Given the description of an element on the screen output the (x, y) to click on. 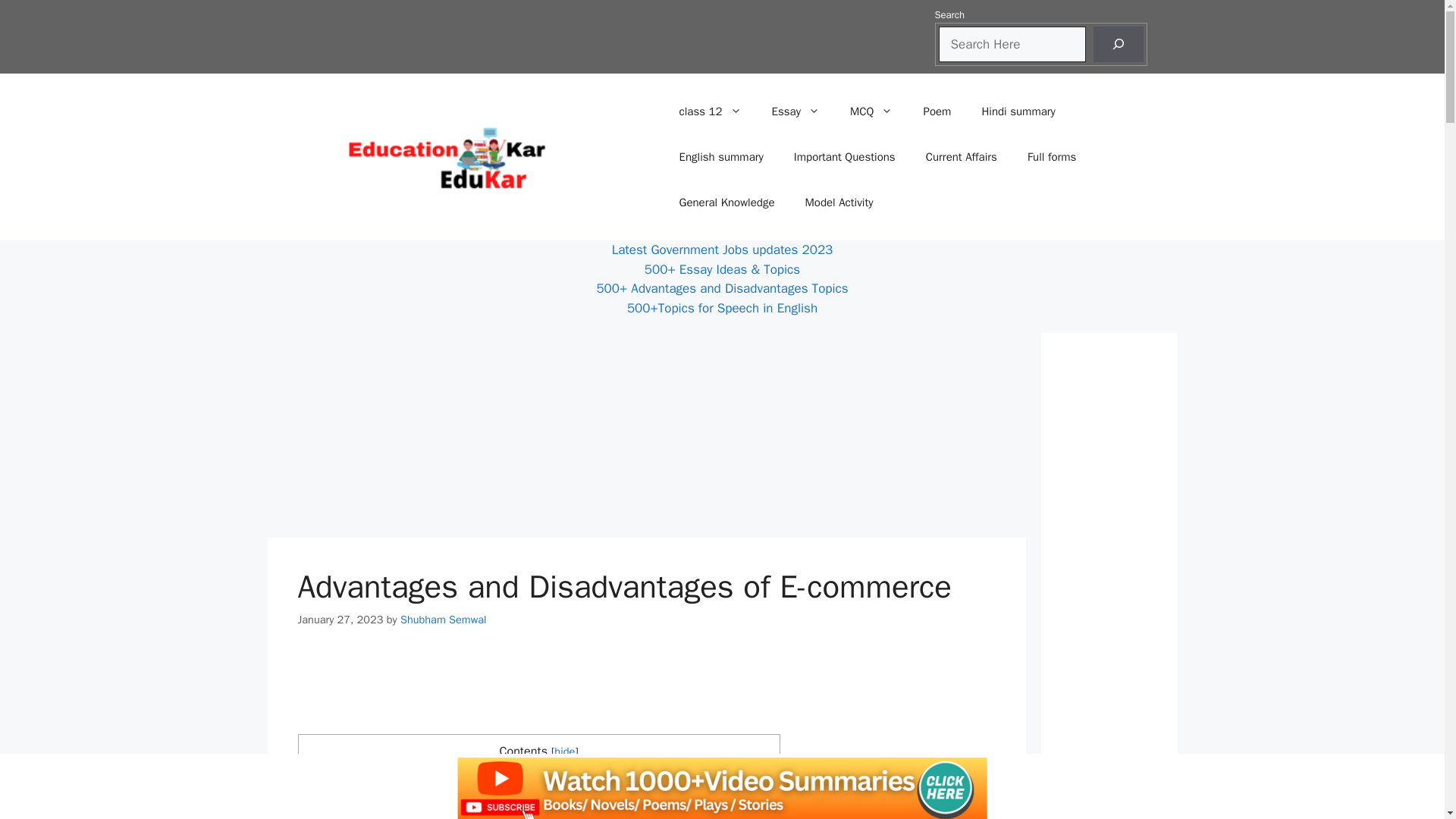
View all posts by Shubham Semwal (443, 619)
Full forms (1051, 156)
MCQ (871, 111)
Model Activity (839, 202)
class 12 (710, 111)
General Knowledge (726, 202)
Poem (936, 111)
Current Affairs (961, 156)
Essay (795, 111)
Important Questions (844, 156)
English summary (720, 156)
Hindi summary (1018, 111)
